Given the description of an element on the screen output the (x, y) to click on. 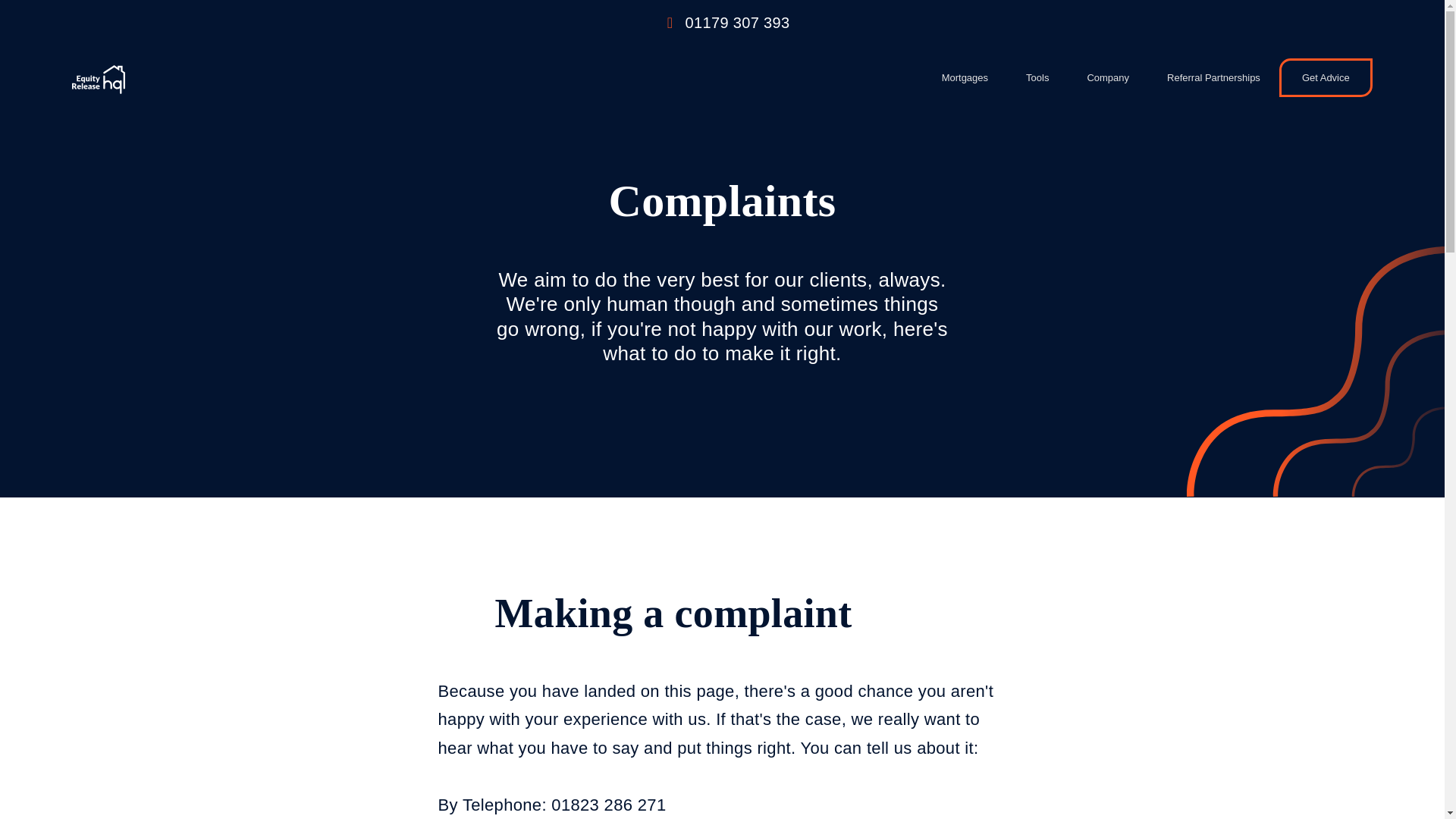
Company (1107, 77)
01179 307 393 (737, 22)
Mortgages (965, 77)
Referral Partnerships (1213, 77)
Get Advice (1326, 77)
